Given the description of an element on the screen output the (x, y) to click on. 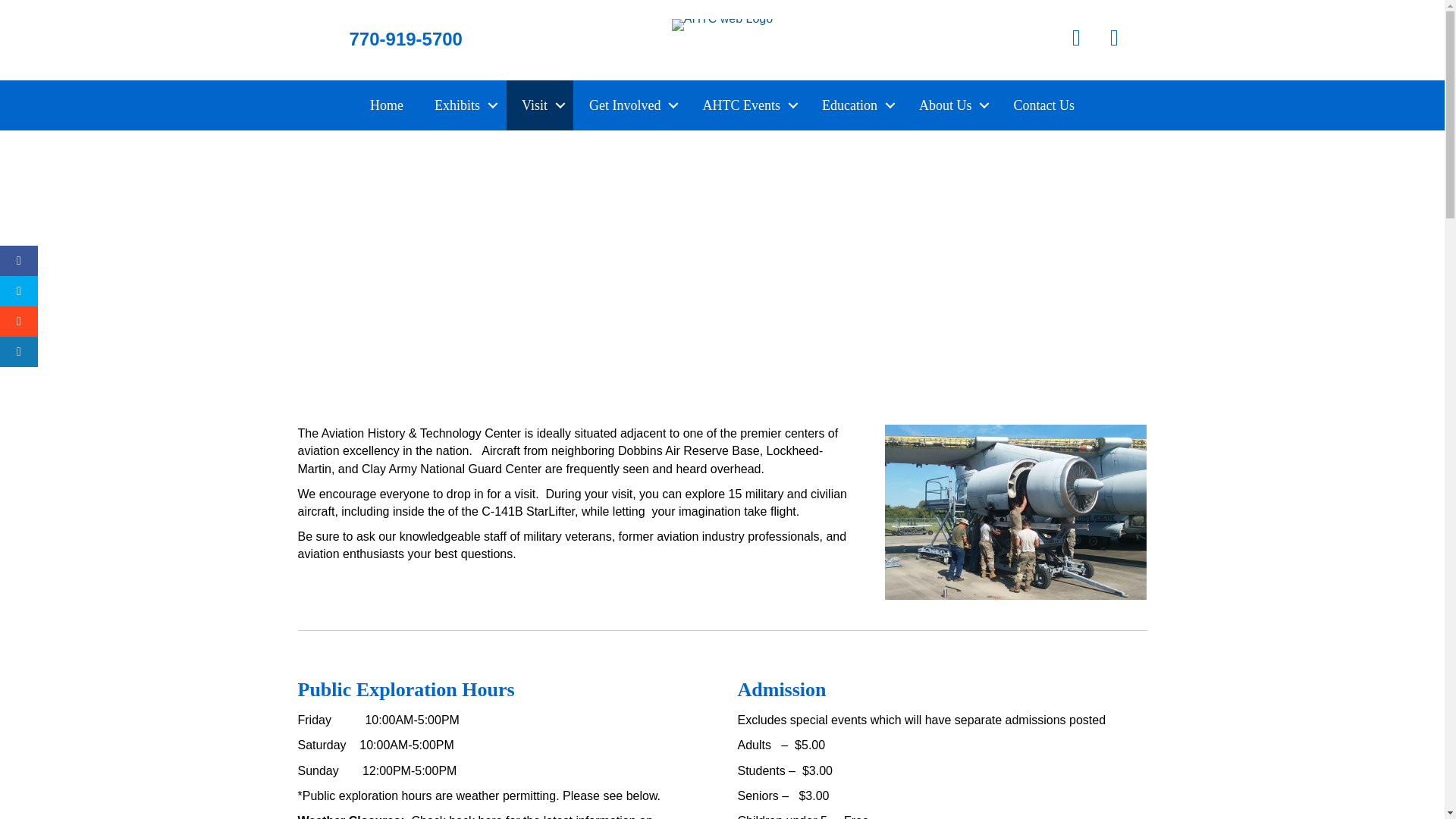
C-141 Project Aviation History and Technology Center (1016, 512)
Get Involved (629, 105)
770-919-5700 (405, 38)
Visit (539, 105)
Home (387, 105)
AHTC web Logo (722, 24)
Exhibits (462, 105)
